Given the description of an element on the screen output the (x, y) to click on. 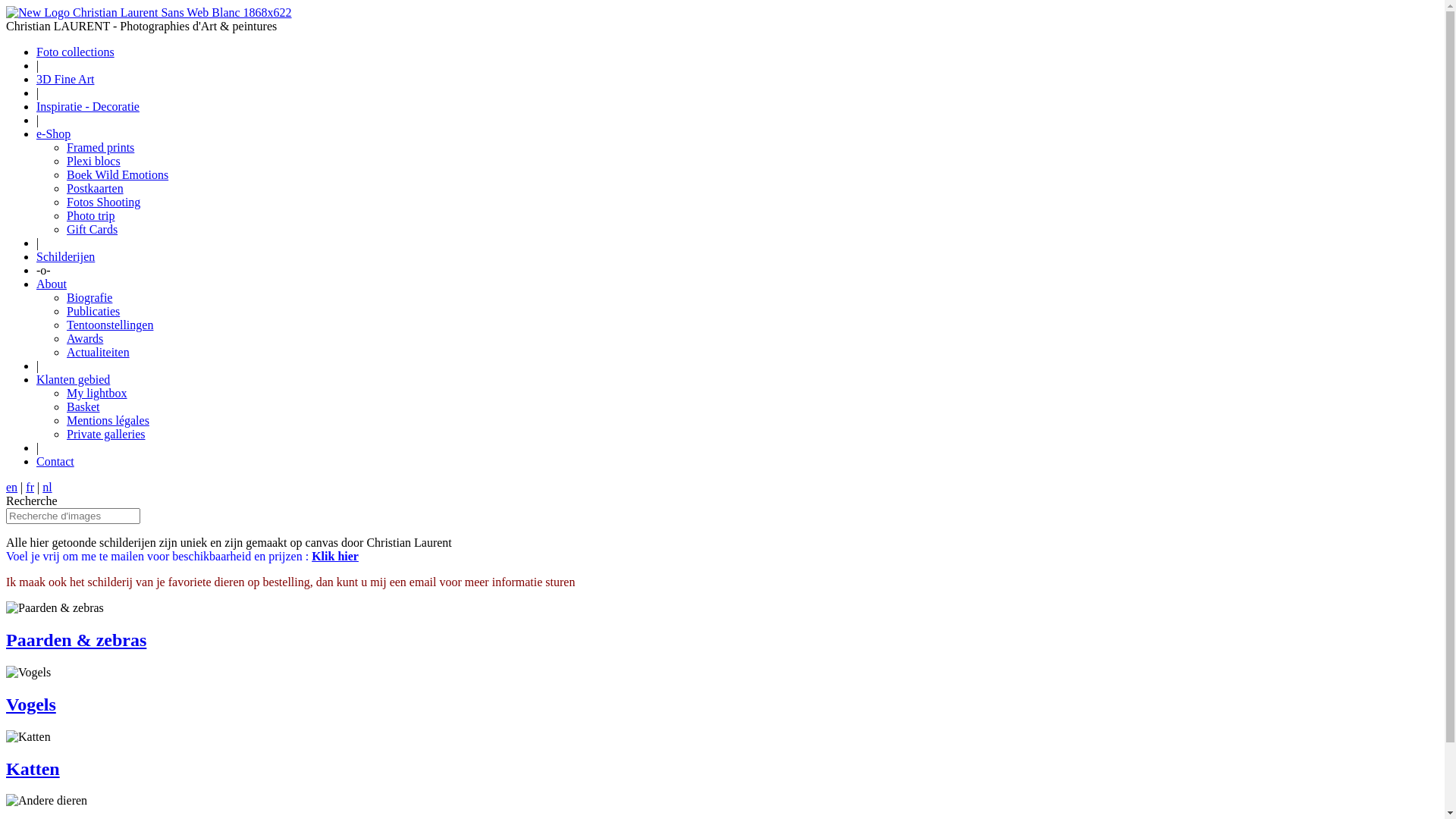
Schilderijen Element type: text (65, 256)
e-Shop Element type: text (53, 133)
Fotos Shooting Element type: text (103, 201)
Tentoonstellingen Element type: text (109, 324)
nl Element type: text (46, 486)
Basket Element type: text (83, 406)
fr Element type: text (29, 486)
Publicaties Element type: text (92, 310)
Klanten gebied Element type: text (72, 379)
Photo trip Element type: text (90, 215)
Boek Wild Emotions Element type: text (117, 174)
Foto collections Element type: text (75, 51)
en Element type: text (11, 486)
Plexi blocs Element type: text (93, 160)
3D Fine Art Element type: text (65, 78)
Klik hier Element type: text (334, 555)
Private galleries Element type: text (105, 433)
My lightbox Element type: text (96, 392)
Katten Element type: text (32, 768)
Inspiratie - Decoratie Element type: text (87, 106)
Framed prints Element type: text (100, 147)
Paarden & zebras Element type: text (76, 639)
Gift Cards Element type: text (91, 228)
Vogels Element type: text (31, 704)
Awards Element type: text (84, 338)
Postkaarten Element type: text (94, 188)
Biografie Element type: text (89, 297)
About Element type: text (51, 283)
Actualiteiten Element type: text (97, 351)
Contact Element type: text (55, 461)
